Given the description of an element on the screen output the (x, y) to click on. 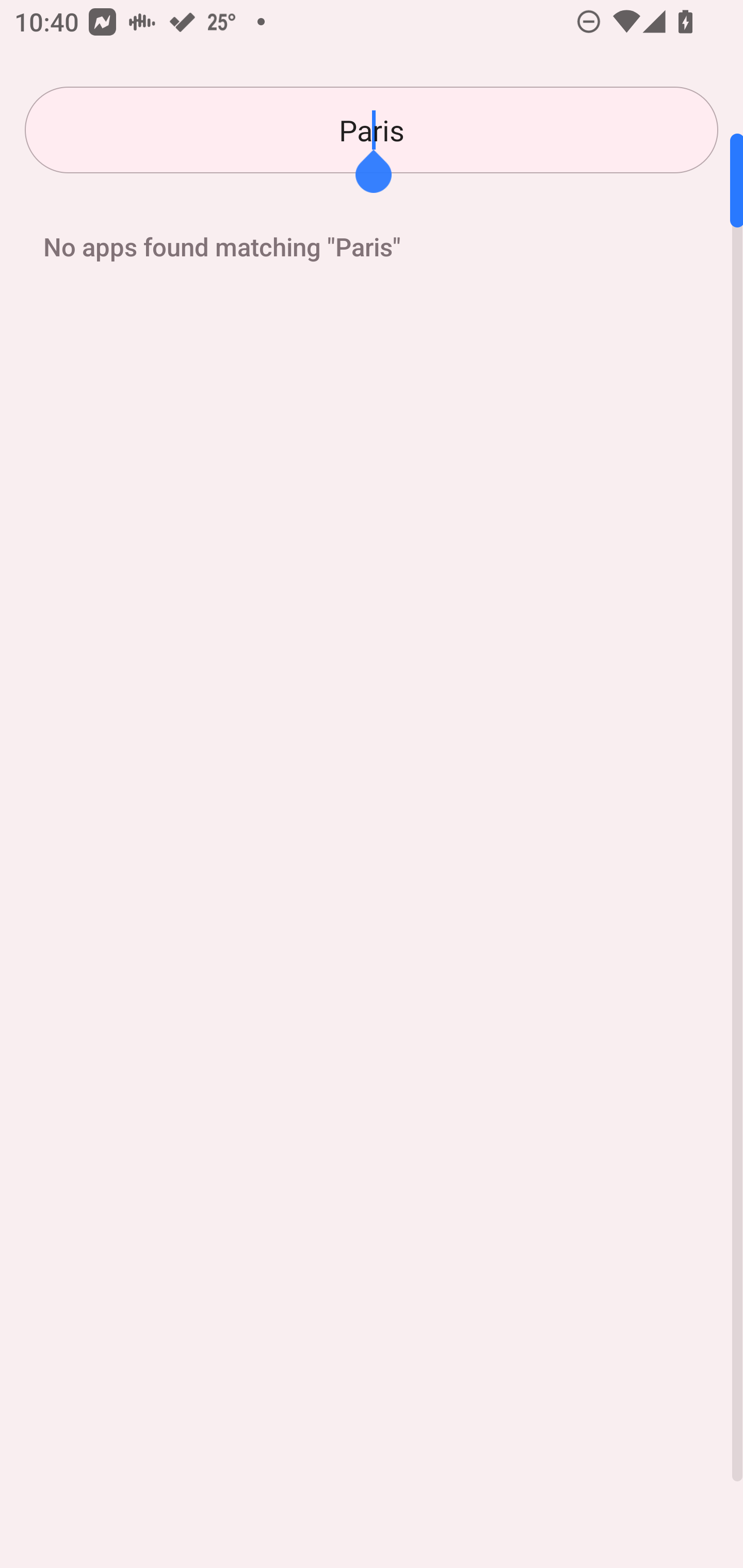
Paris (371, 130)
